Given the description of an element on the screen output the (x, y) to click on. 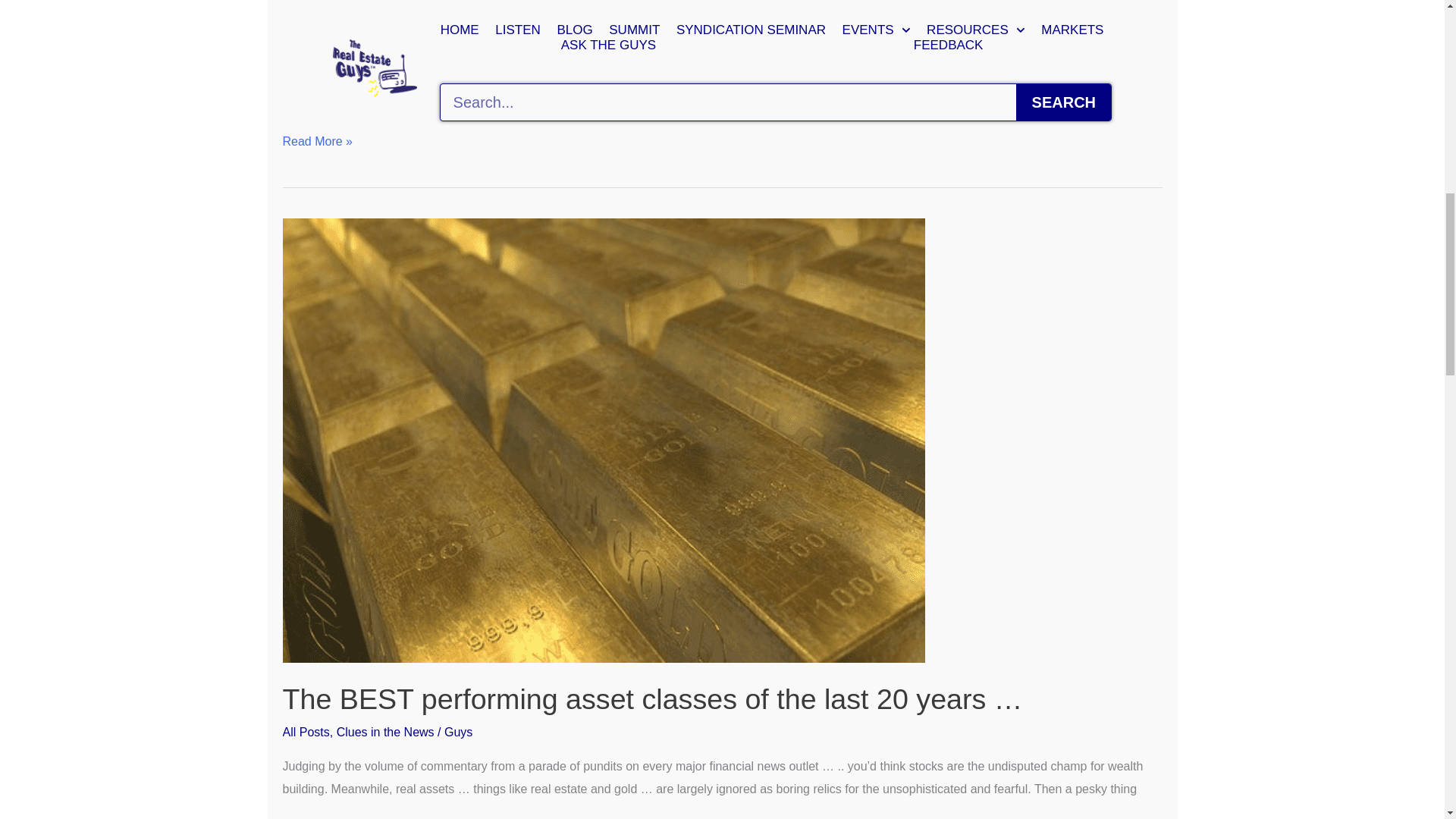
View all posts by Guys (457, 731)
View all posts by Guys (469, 21)
